Given the description of an element on the screen output the (x, y) to click on. 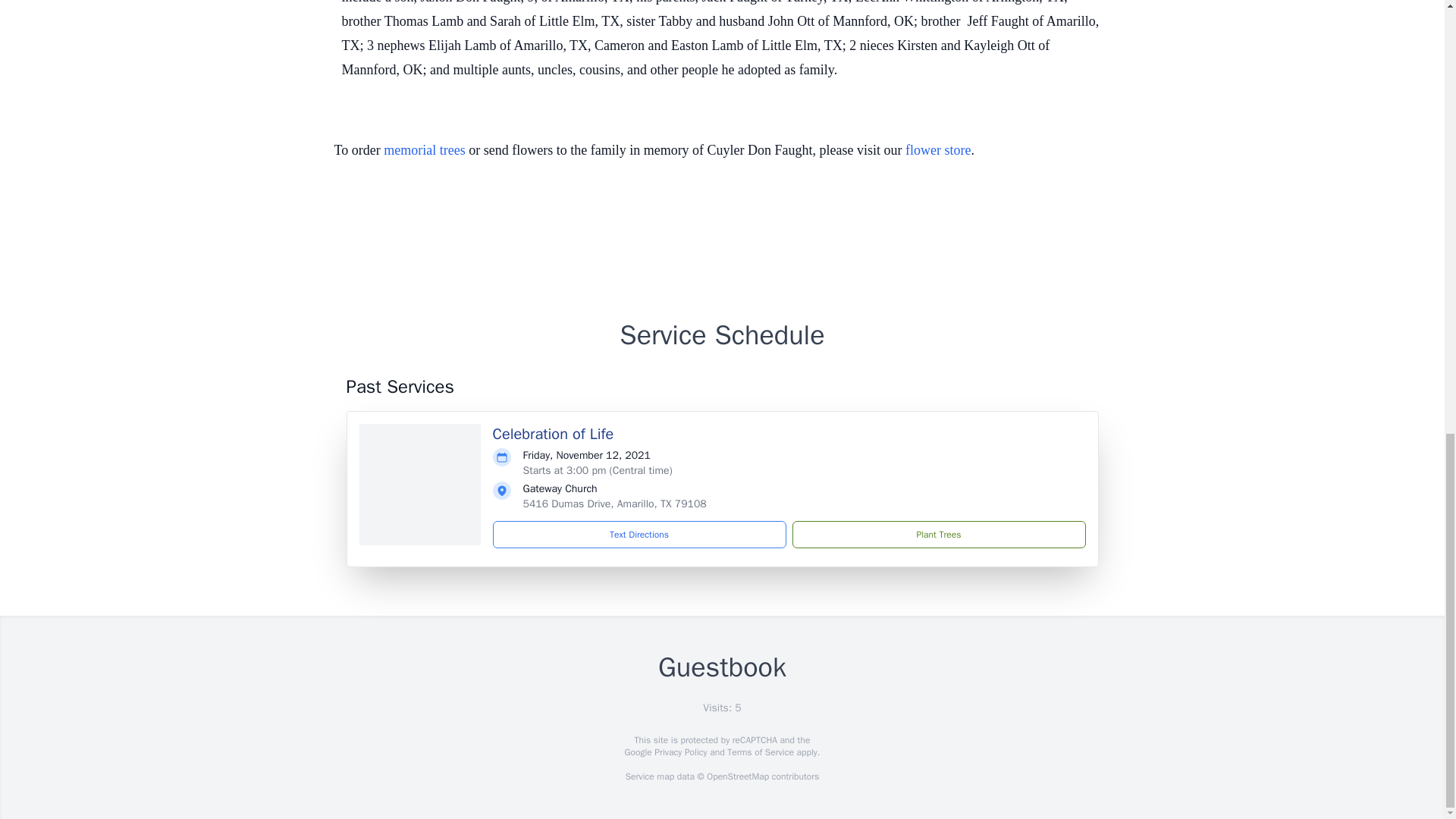
memorial trees (424, 150)
Plant Trees (938, 533)
5416 Dumas Drive, Amarillo, TX 79108 (614, 503)
flower store (938, 150)
OpenStreetMap (737, 776)
Privacy Policy (679, 752)
Text Directions (639, 533)
Terms of Service (759, 752)
